Given the description of an element on the screen output the (x, y) to click on. 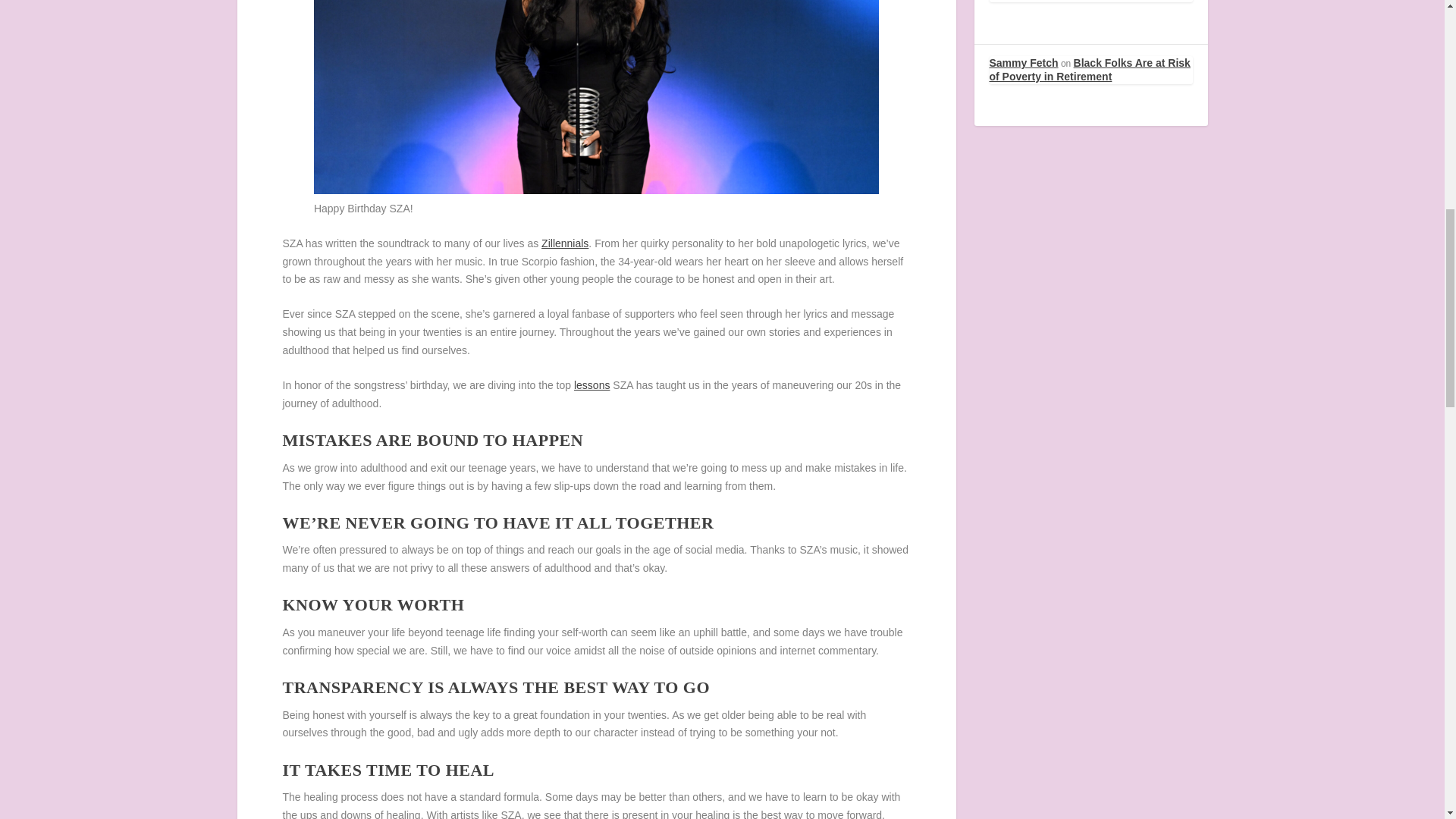
lessons (591, 385)
Zillennials (564, 243)
